Given the description of an element on the screen output the (x, y) to click on. 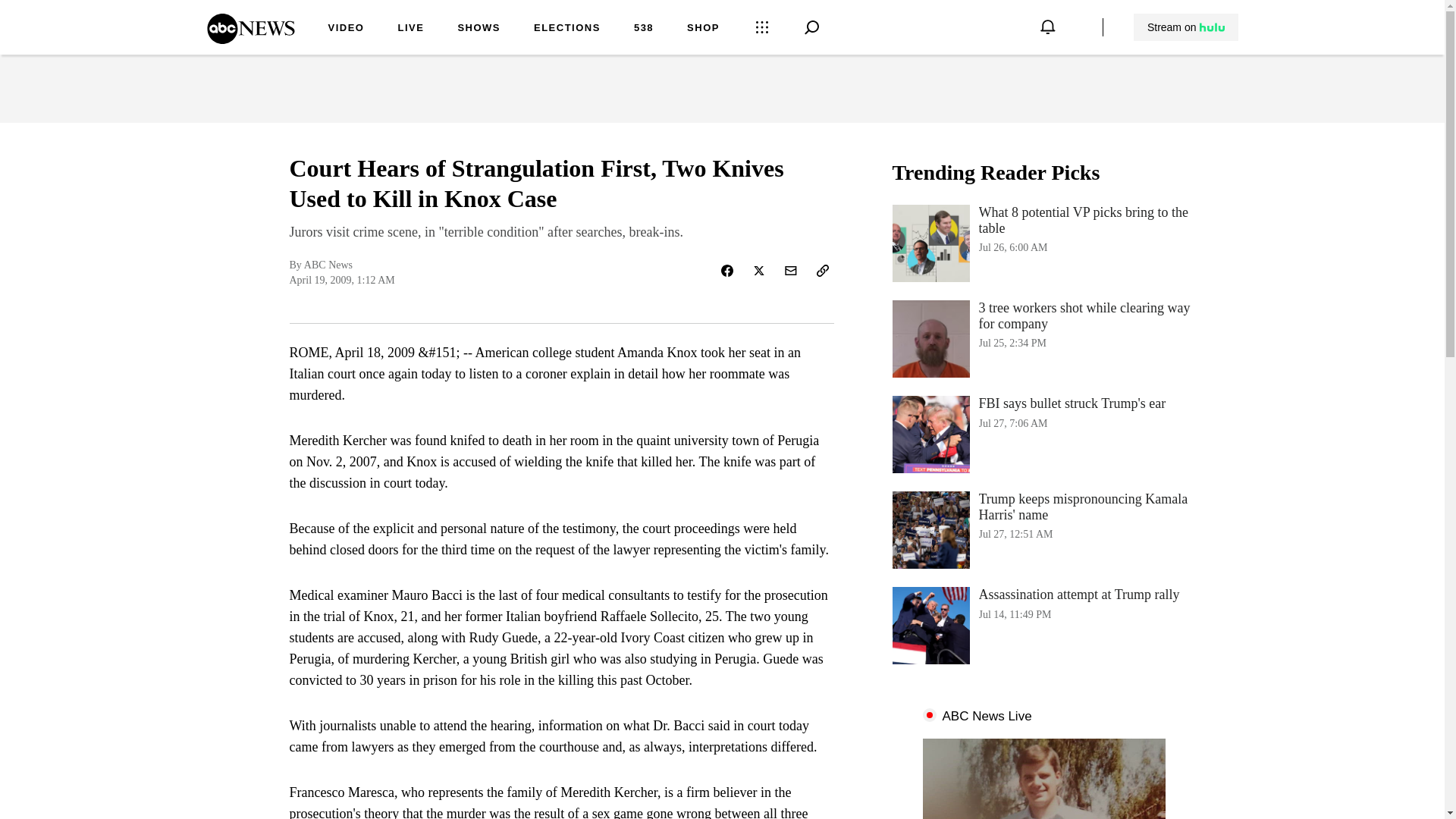
ELECTIONS (566, 28)
VIDEO (345, 28)
Stream on (1043, 625)
ABC News (1186, 26)
538 (1043, 434)
LIVE (250, 38)
Stream on (643, 28)
SHOWS (410, 28)
SHOP (1185, 27)
